Given the description of an element on the screen output the (x, y) to click on. 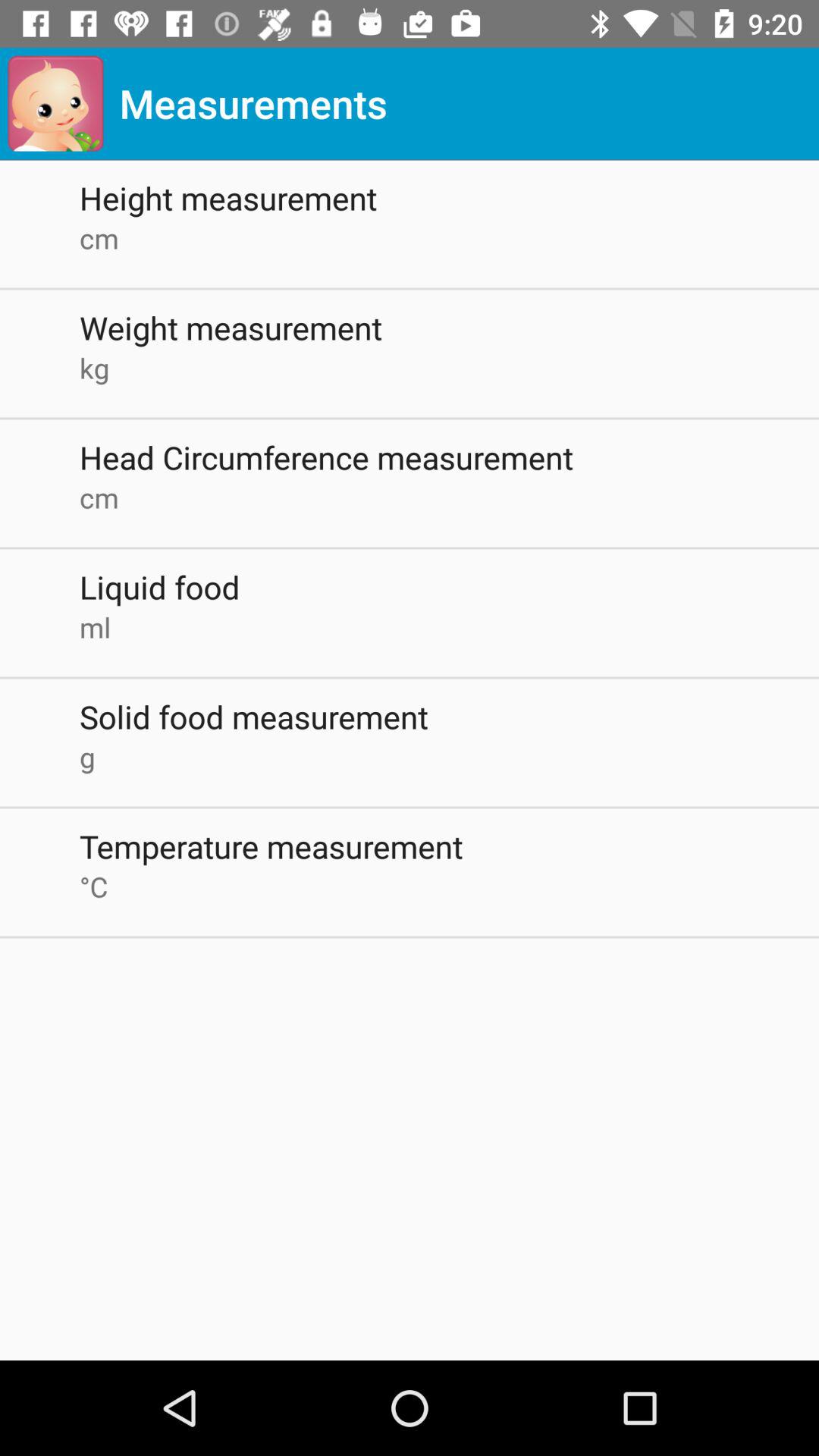
click temperature measurement item (449, 845)
